Given the description of an element on the screen output the (x, y) to click on. 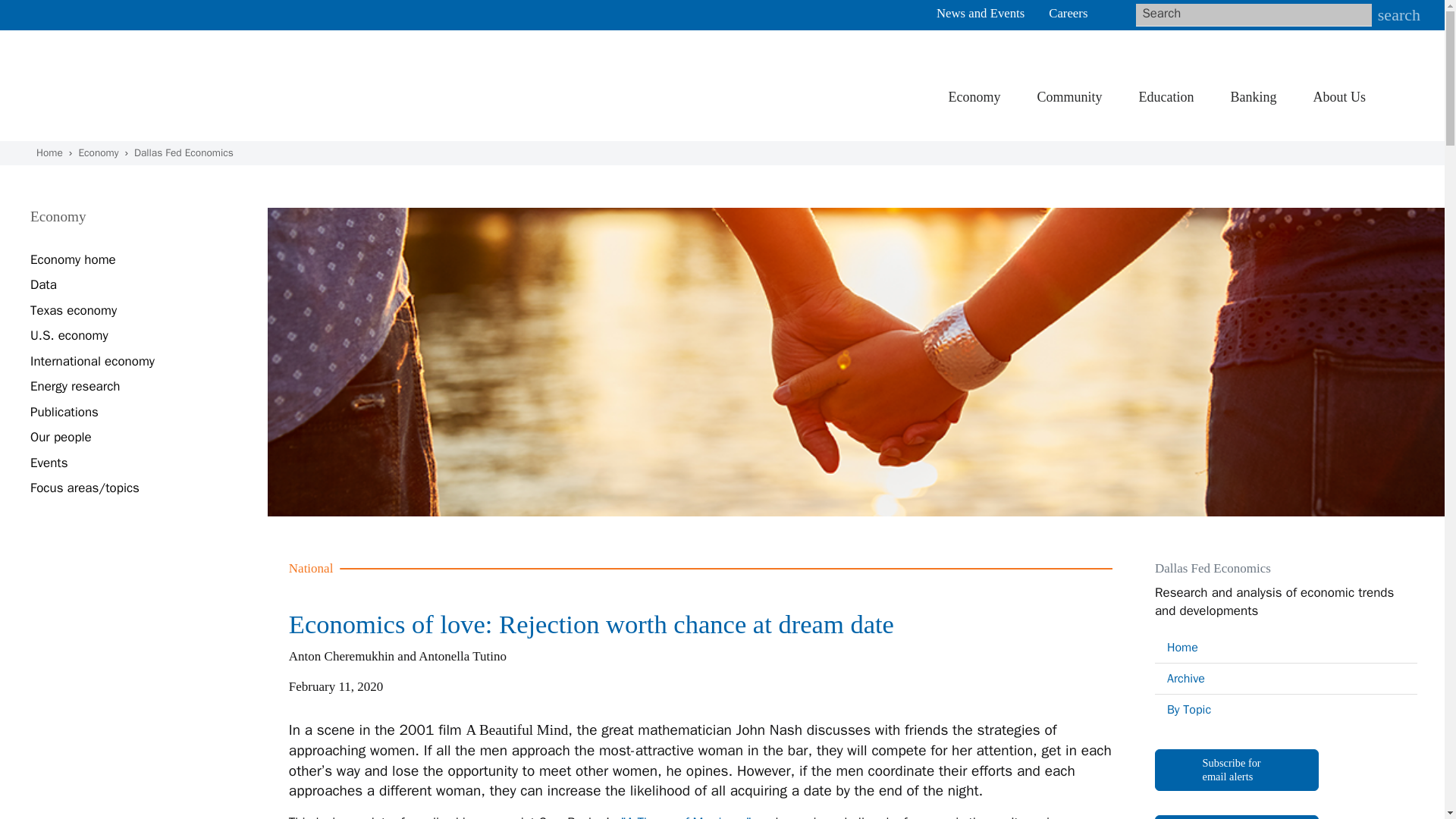
Careers (1067, 12)
News and Events (980, 12)
Economy (974, 99)
